Given the description of an element on the screen output the (x, y) to click on. 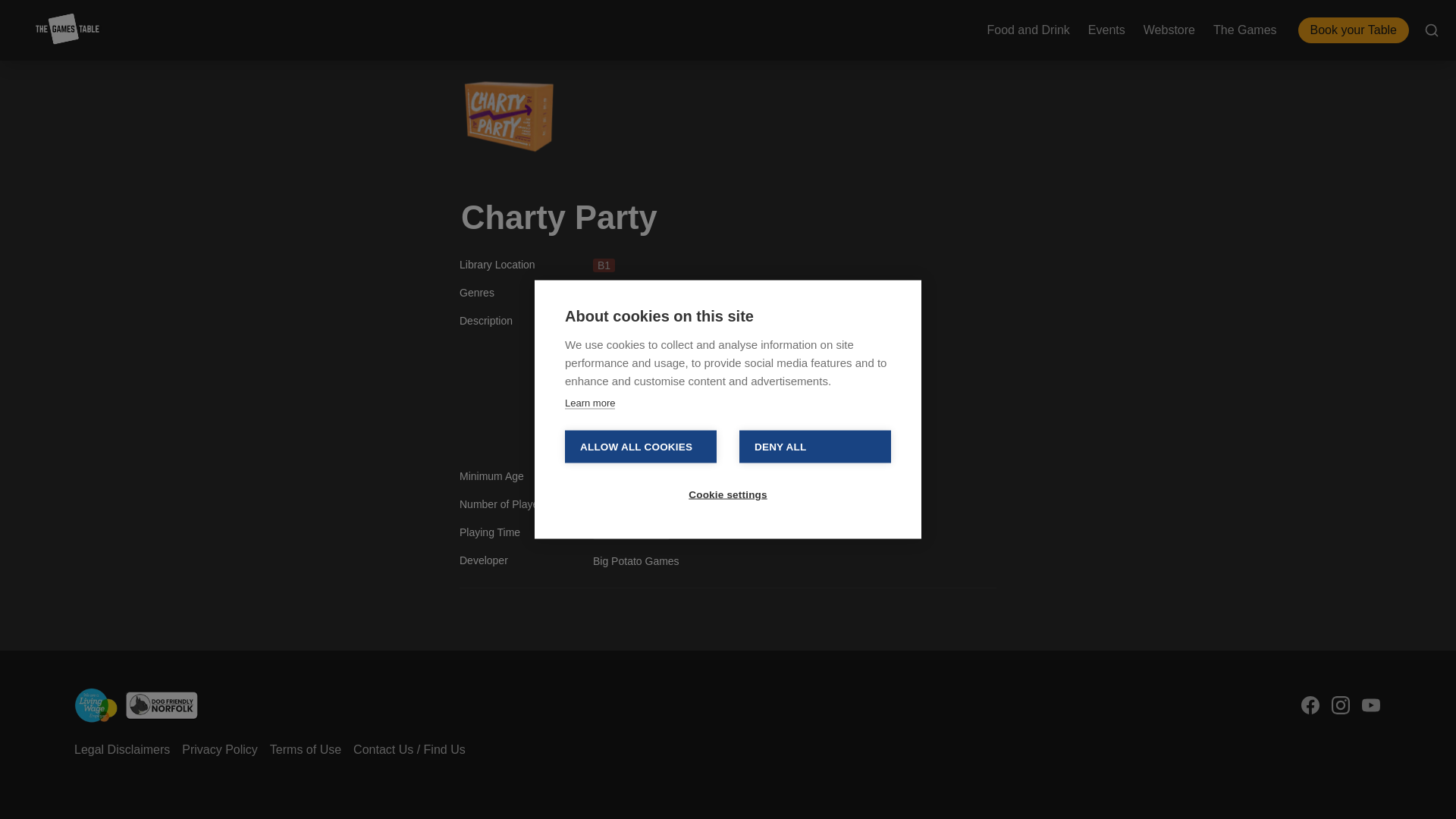
Learn more (589, 328)
ALLOW ALL COOKIES (640, 372)
Cookie settings (727, 419)
Privacy Policy (219, 750)
YouTube (1370, 705)
Instagram (1340, 705)
Legal Disclaimers (121, 750)
YouTube (1370, 705)
Facebook (1310, 705)
Instagram (1340, 705)
Facebook (1310, 705)
DENY ALL (815, 372)
Terms of Use (304, 750)
